Given the description of an element on the screen output the (x, y) to click on. 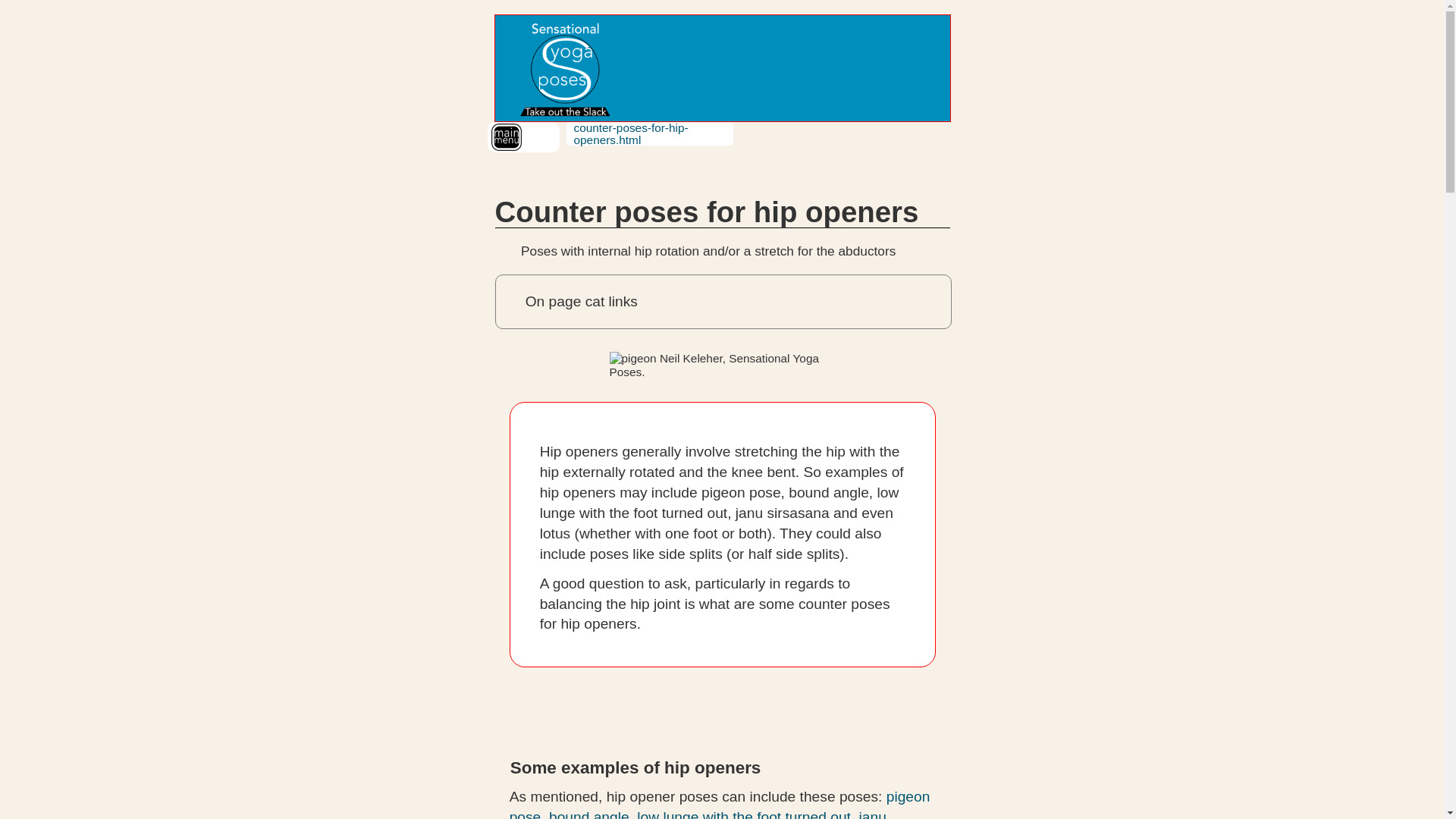
main menu (506, 137)
Home (562, 68)
pigeon (722, 365)
counter-poses-for-hip-openers.html (630, 133)
low lunge with the foot turned out (743, 814)
janu sirsasana (697, 814)
pigeon pose (719, 803)
bound angle (588, 814)
